Given the description of an element on the screen output the (x, y) to click on. 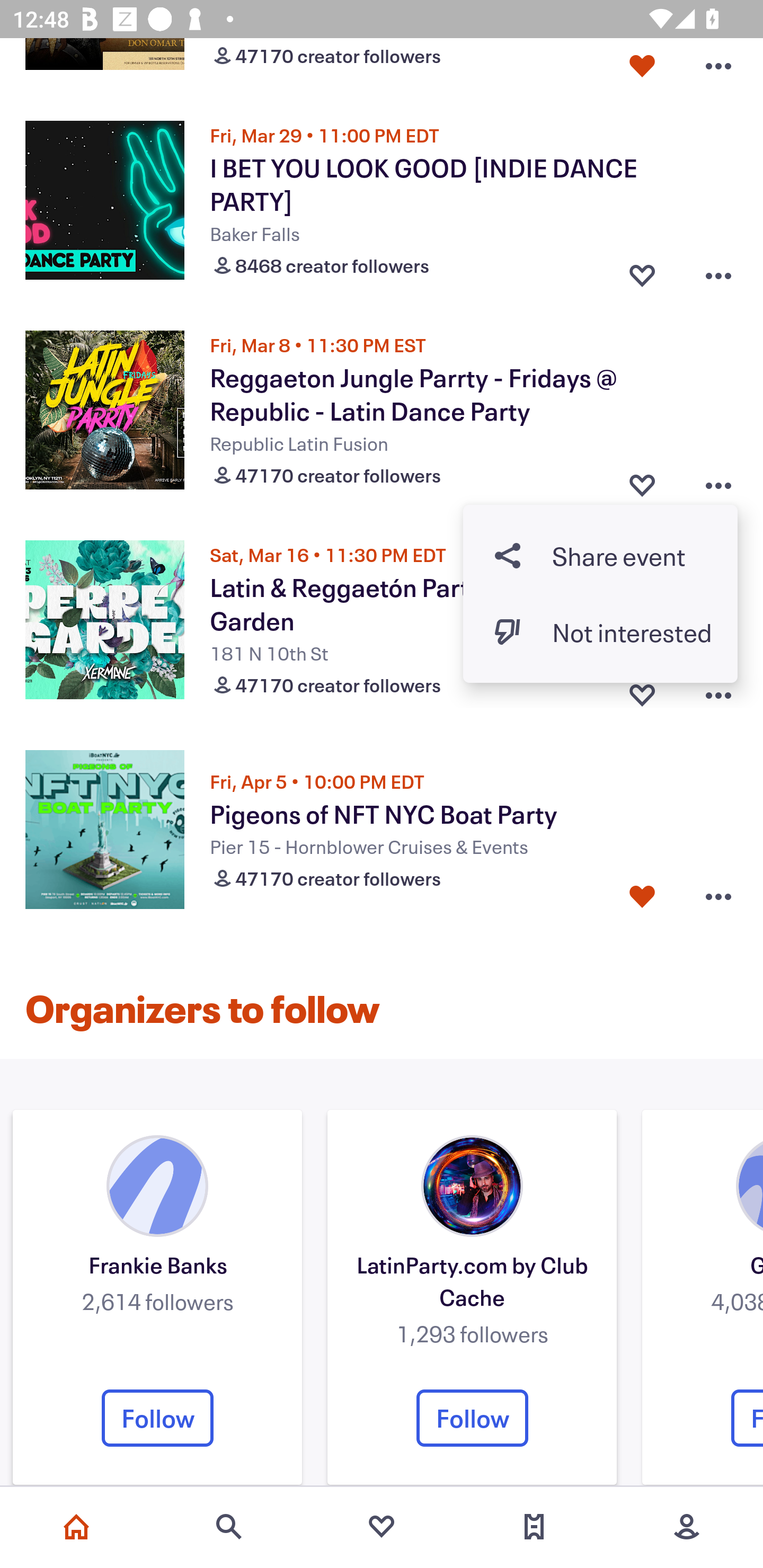
Share button Share event (600, 555)
Dislike event button Not interested (600, 631)
